Given the description of an element on the screen output the (x, y) to click on. 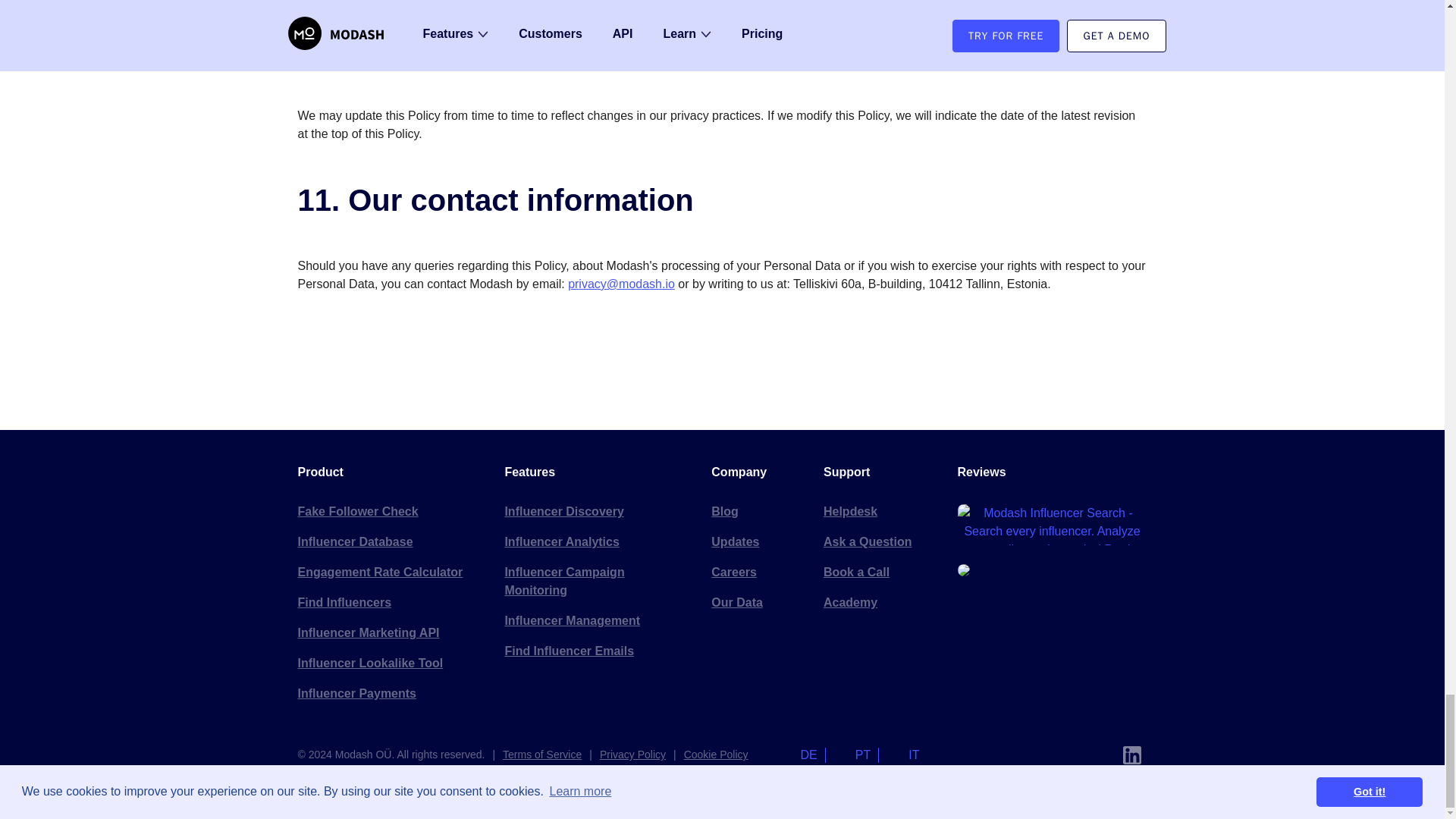
Influencer Management (595, 621)
Influencer Discovery (595, 511)
Engagement Rate Calculator (388, 572)
Fake Follower Check (388, 511)
Influencer Analytics (595, 542)
Influencer Database (388, 542)
Influencer Payments (388, 693)
Blog (755, 511)
Influencer Campaign Monitoring (595, 581)
Find Influencers (388, 603)
